Given the description of an element on the screen output the (x, y) to click on. 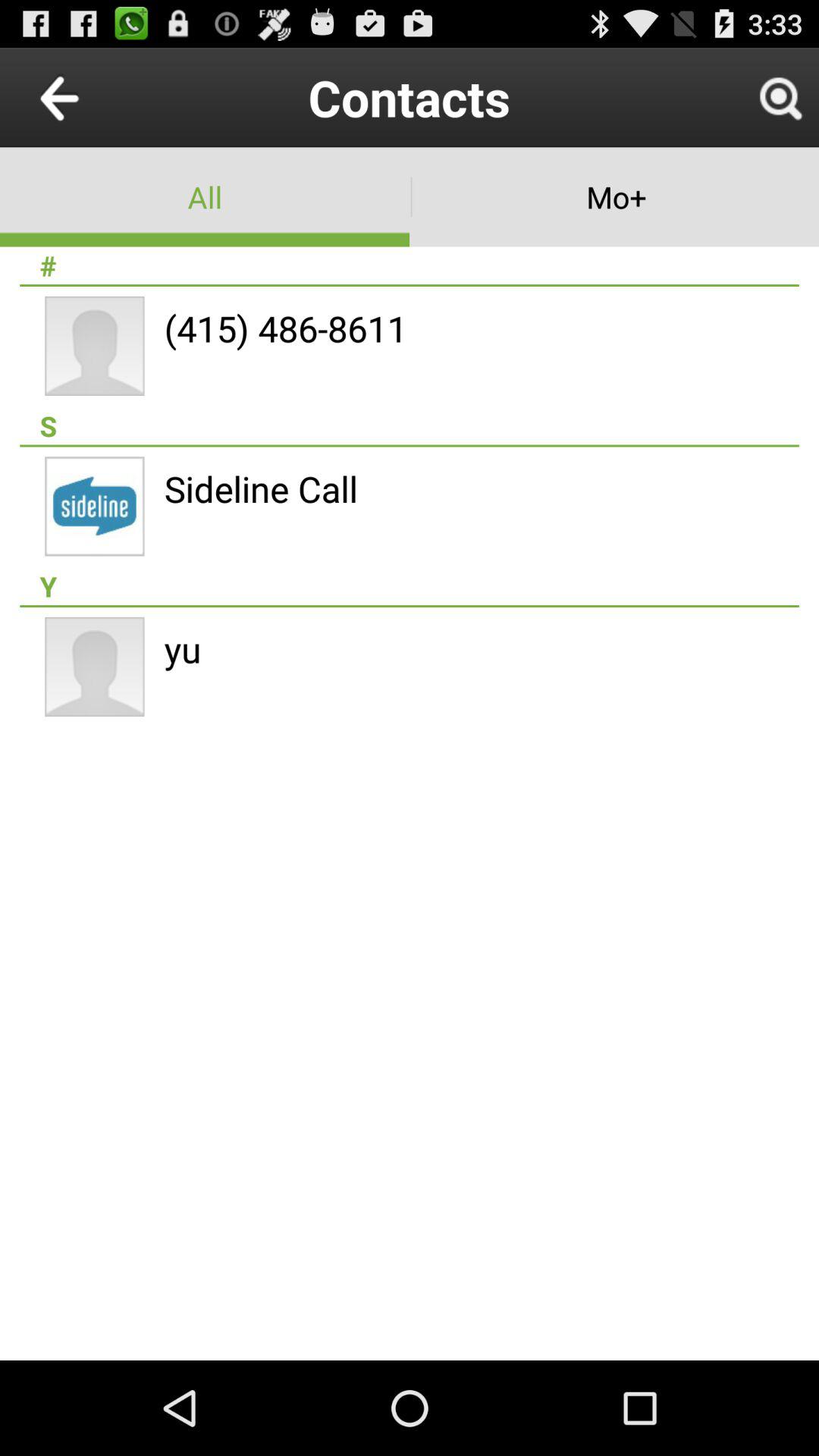
turn on y item (409, 586)
